Given the description of an element on the screen output the (x, y) to click on. 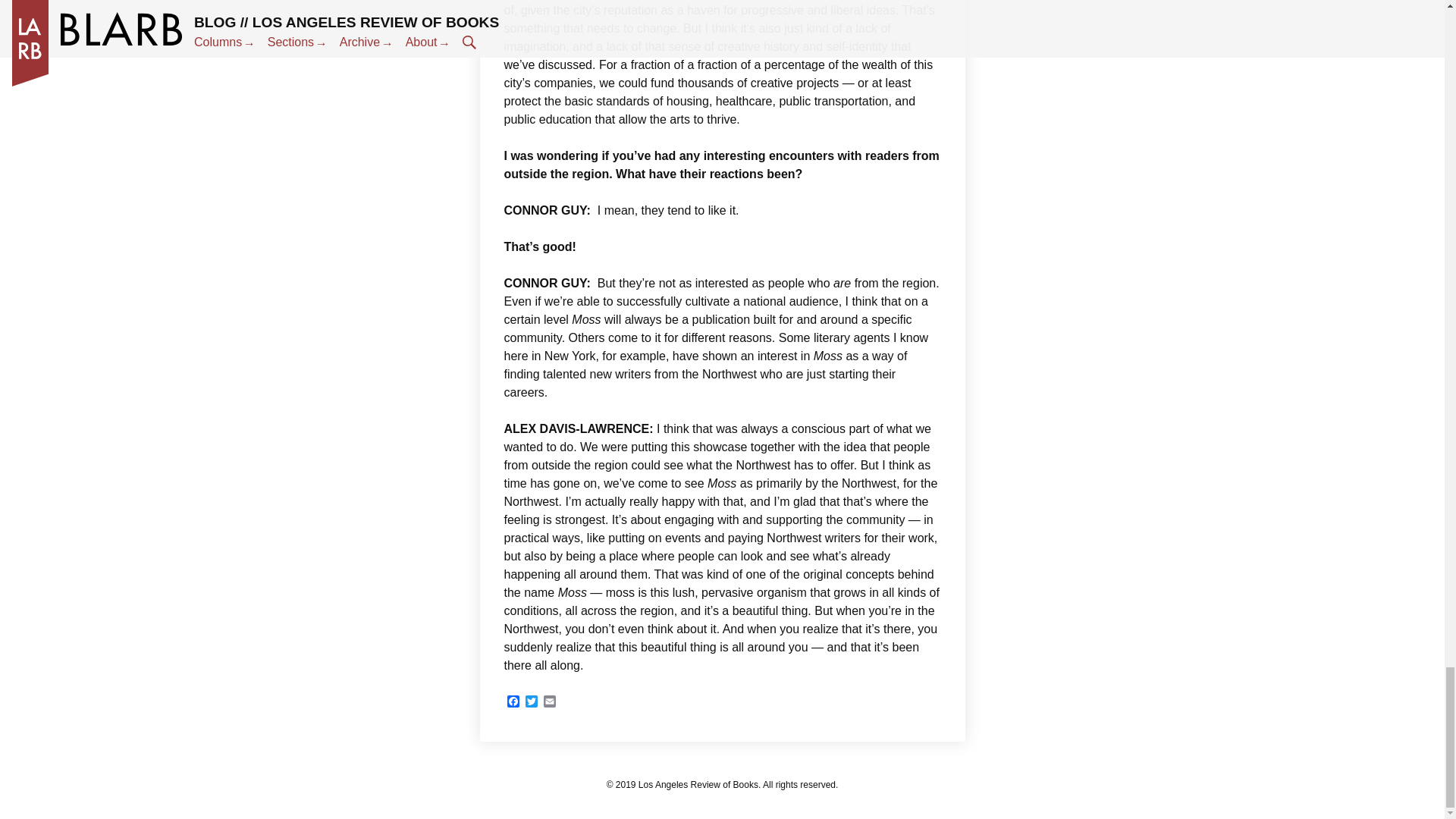
Email (548, 702)
Facebook (512, 702)
Twitter (530, 702)
